Given the description of an element on the screen output the (x, y) to click on. 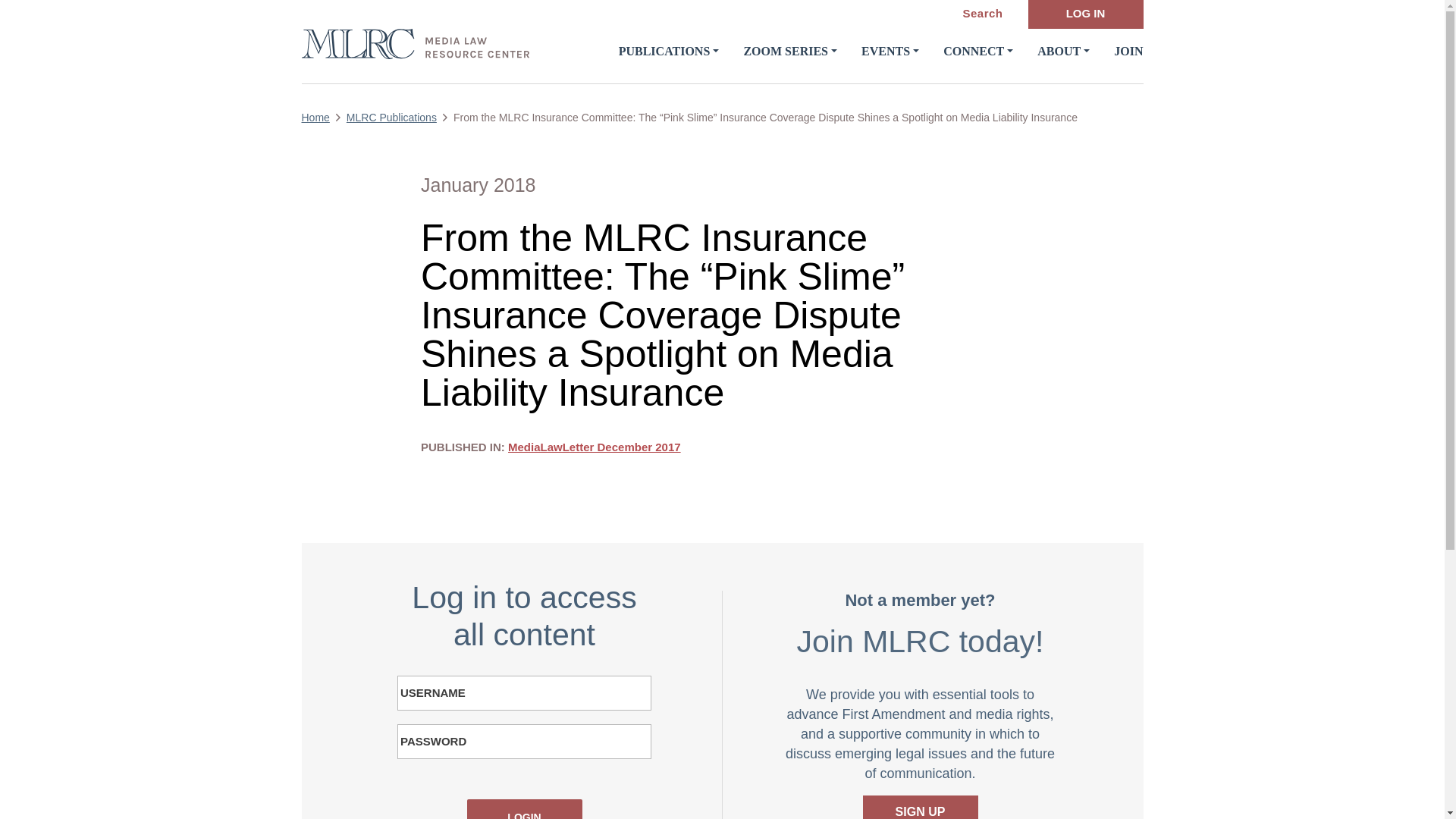
LOG IN (1084, 14)
JOIN (1127, 50)
Go to MLRC Publications. (399, 117)
PUBLICATIONS (668, 50)
ZOOM SERIES (789, 50)
CONNECT (978, 50)
ABOUT (1062, 50)
Go to Media Law Resource Center. (323, 117)
EVENTS (889, 50)
